Given the description of an element on the screen output the (x, y) to click on. 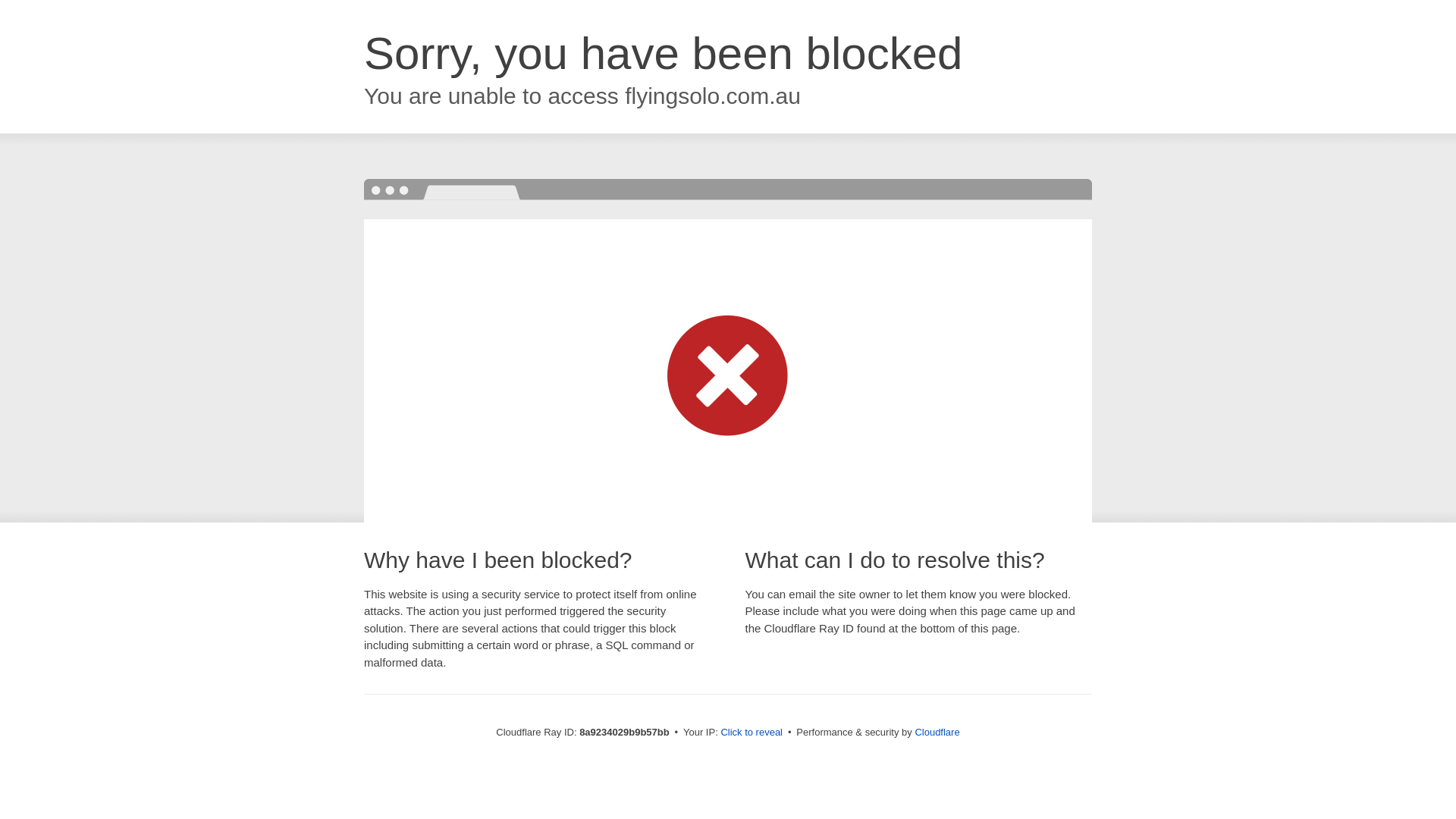
Cloudflare (936, 731)
Click to reveal (751, 732)
